Given the description of an element on the screen output the (x, y) to click on. 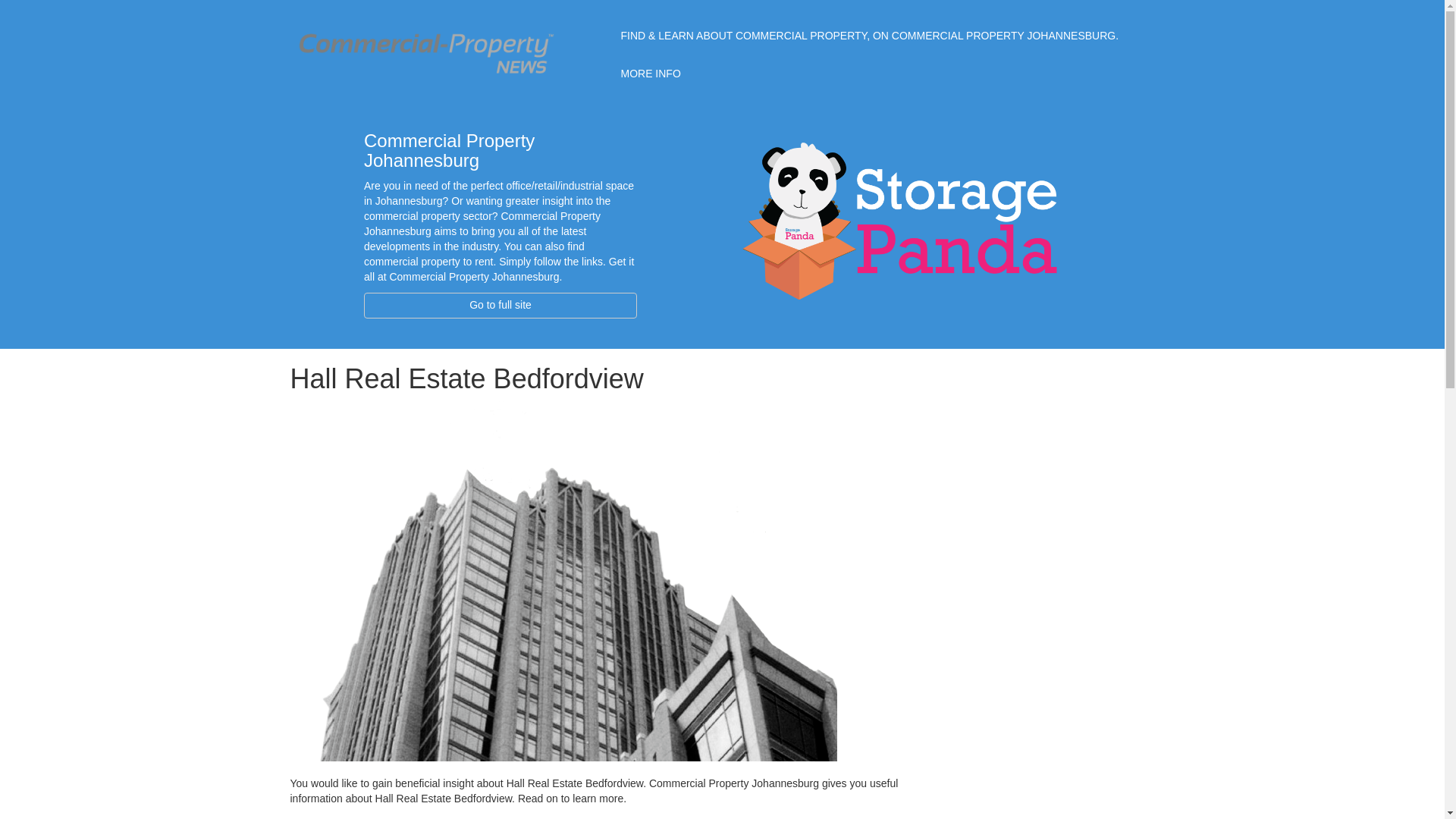
More info (649, 73)
commercial-property-Johannesburg1 (425, 50)
commercial property johannesburg (909, 220)
Go to full site (500, 305)
MORE INFO (649, 73)
